Given the description of an element on the screen output the (x, y) to click on. 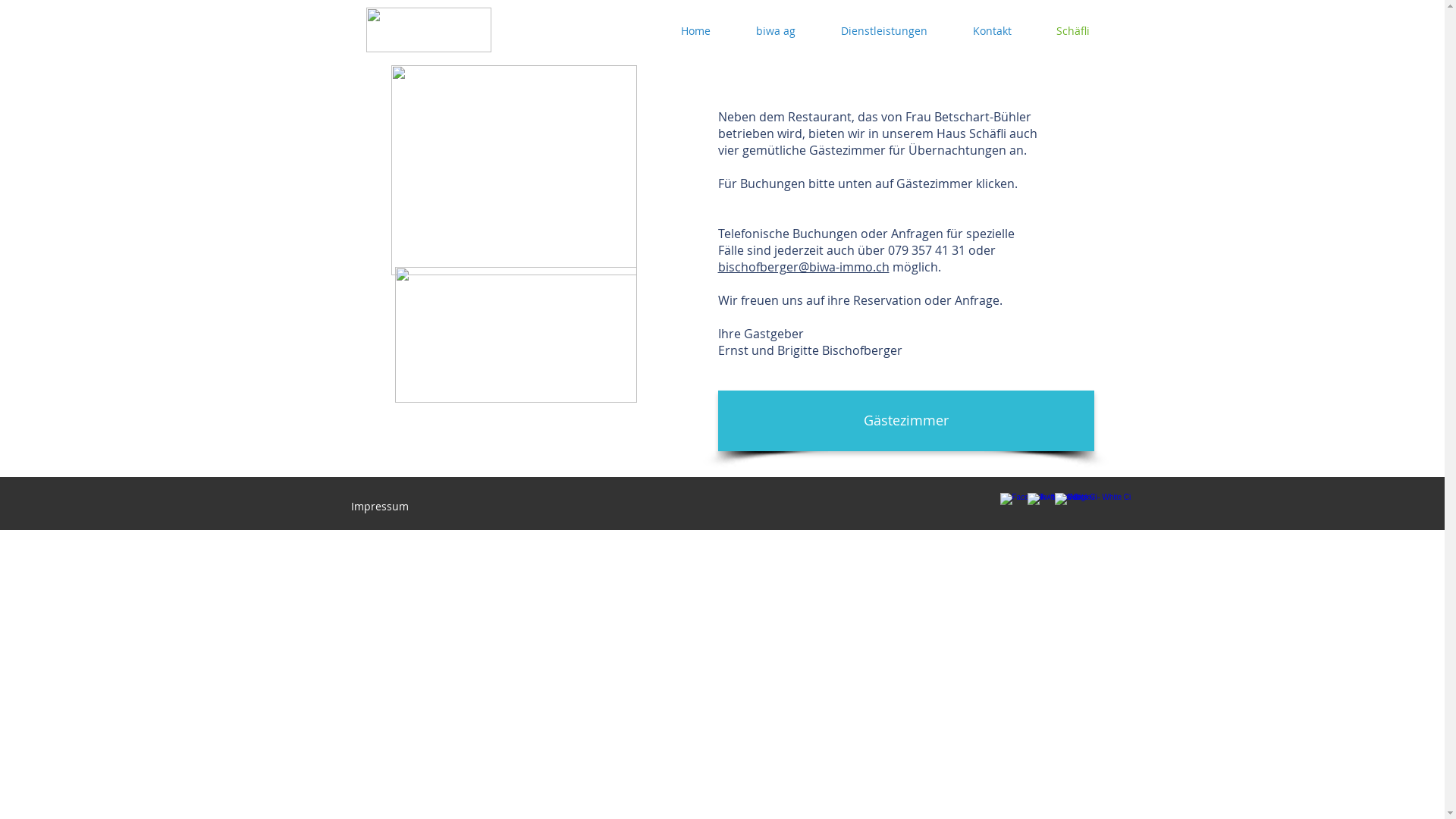
Dienstleistungen Element type: text (883, 30)
Impressum Element type: text (378, 505)
Home Element type: text (695, 30)
bischofberger@biwa-immo.ch Element type: text (802, 266)
biwa ag Element type: text (774, 30)
Kontakt Element type: text (991, 30)
